Given the description of an element on the screen output the (x, y) to click on. 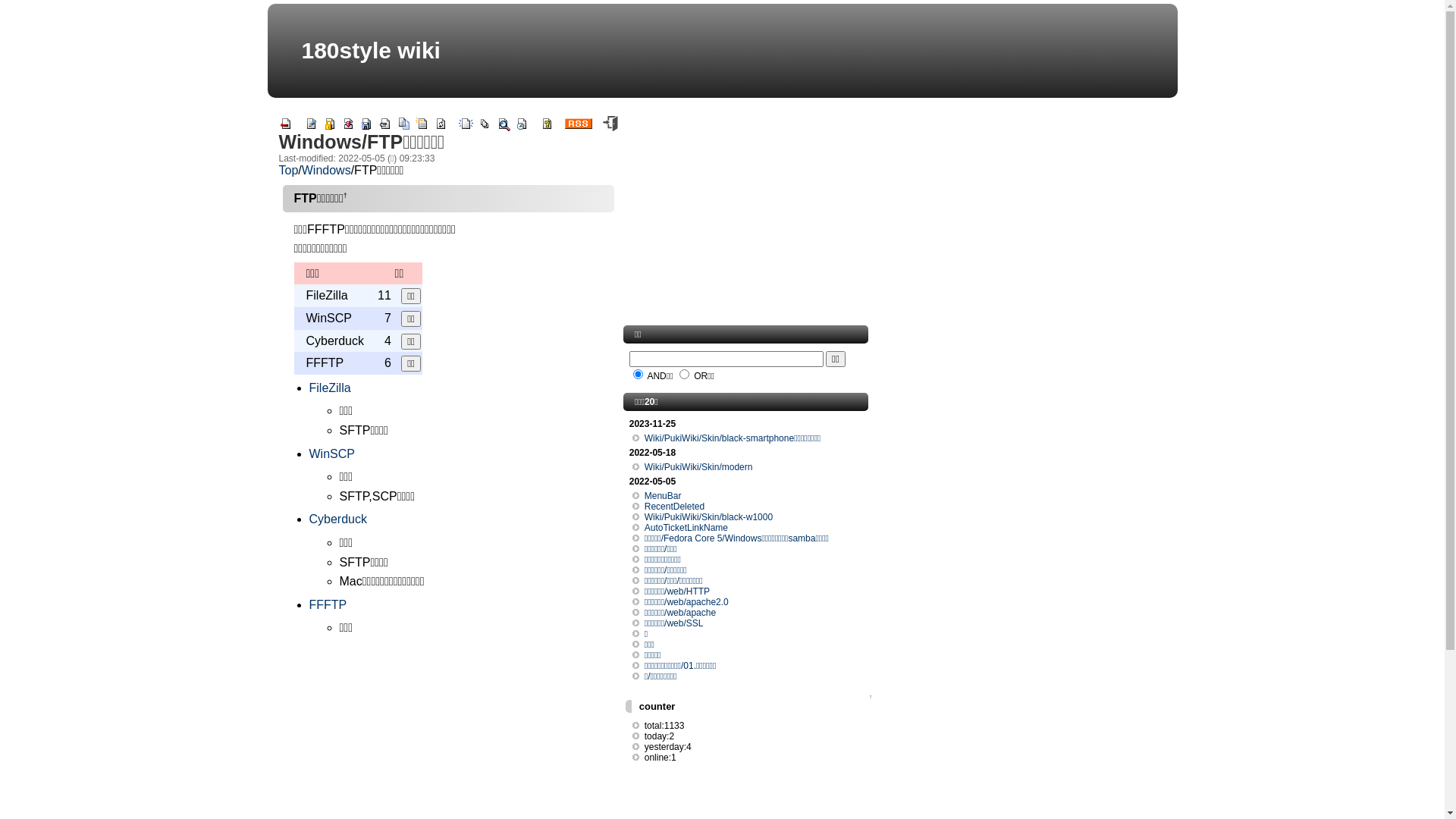
Advertisement Element type: hover (746, 218)
FileZilla Element type: text (330, 387)
180style wiki Element type: text (370, 49)
Top Element type: text (288, 169)
Windows Element type: text (326, 169)
RecentDeleted Element type: text (674, 506)
FFFTP Element type: text (328, 604)
Wiki/PukiWiki/Skin/black-w1000 Element type: text (708, 516)
MenuBar Element type: text (662, 495)
AutoTicketLinkName Element type: text (686, 527)
Cyberduck Element type: text (338, 518)
Wiki/PukiWiki/Skin/modern Element type: text (698, 466)
WinSCP Element type: text (331, 453)
